Given the description of an element on the screen output the (x, y) to click on. 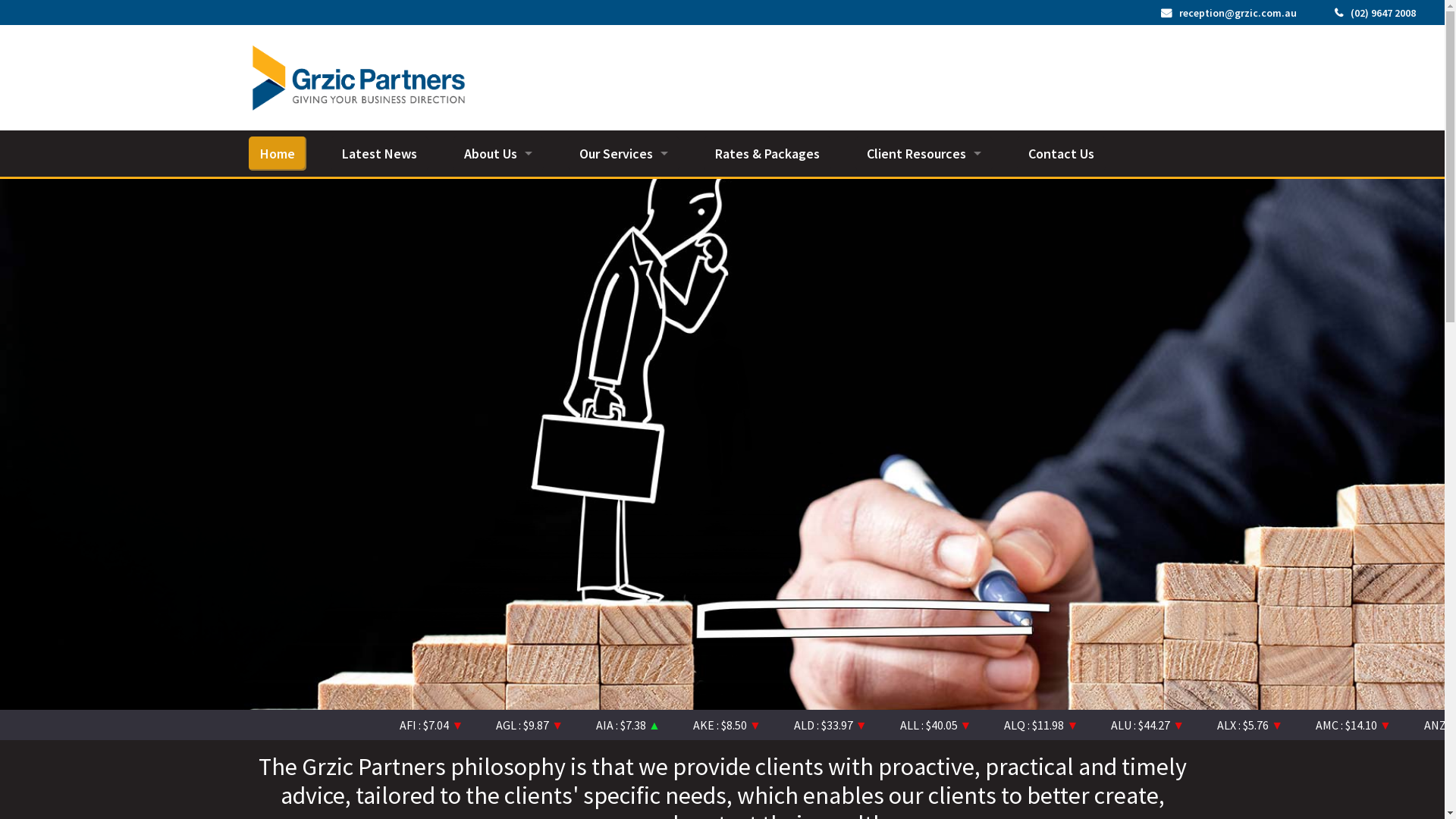
reception@grzic.com.au Element type: text (1228, 12)
Home Element type: text (277, 153)
Taxation Element type: text (622, 221)
Business Services Element type: text (622, 255)
Accounting Videos Element type: text (923, 187)
Financial Planning Element type: text (622, 324)
Superannuation Element type: text (622, 290)
Rates & Packages Element type: text (767, 153)
Client Resources Element type: text (923, 153)
Our Services Element type: text (622, 153)
About Us Element type: text (496, 153)
Latest News Element type: text (379, 153)
Contact Us Element type: text (1060, 153)
(02) 9647 2008 Element type: text (1374, 12)
Useful Links Element type: text (923, 255)
General Calculators Element type: text (923, 221)
Accounting Services Element type: text (622, 187)
Our Team Element type: text (496, 187)
